Given the description of an element on the screen output the (x, y) to click on. 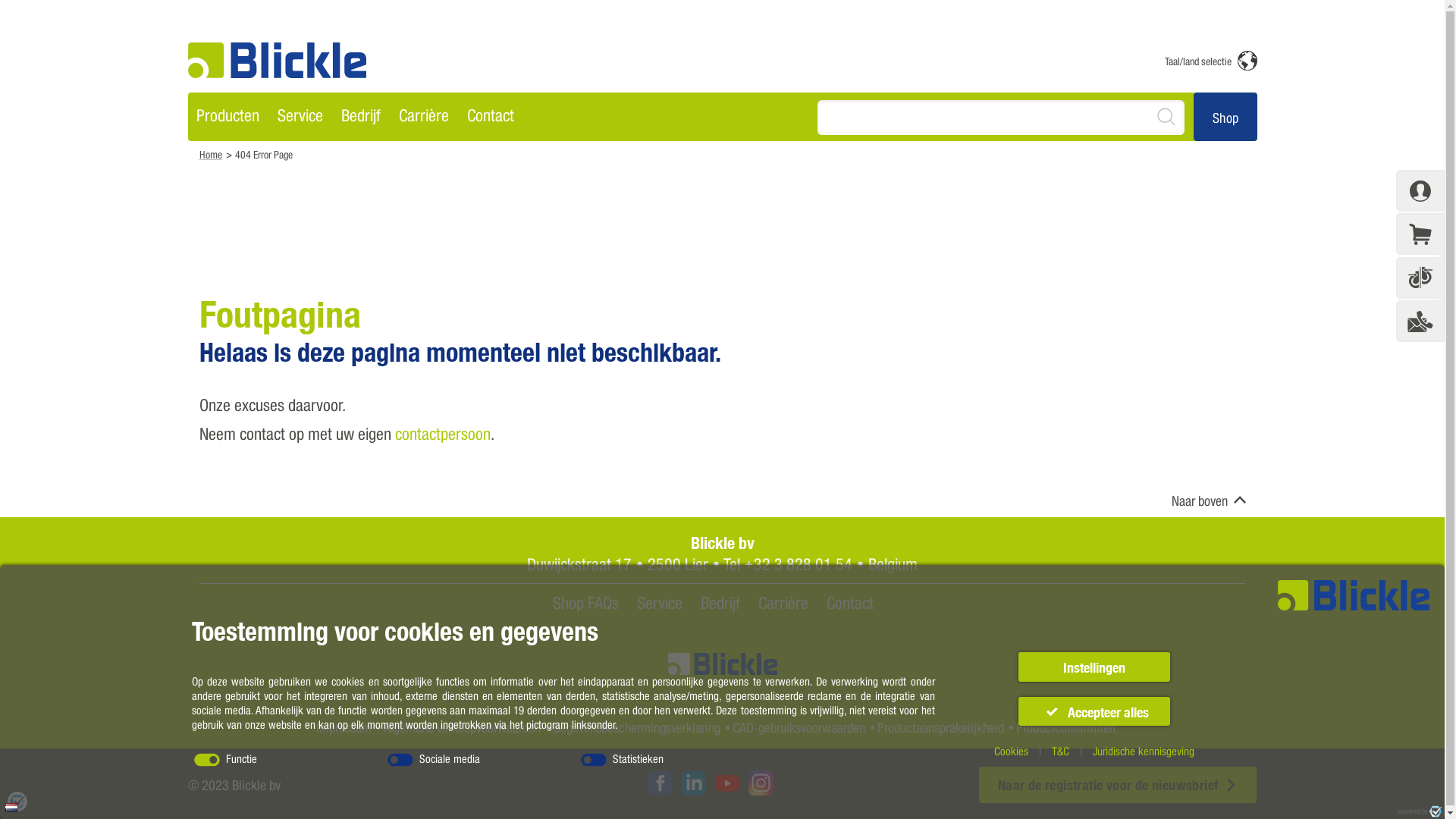
Shop Element type: text (1225, 115)
Gegevensbeschermingsverklaring Element type: text (636, 727)
contactpersoon Element type: text (441, 433)
Contact Element type: text (849, 602)
Producten Element type: text (228, 116)
LinkedIn Element type: hover (693, 784)
+32 3 828 01 54 Element type: text (797, 563)
404 Error Page Element type: text (263, 153)
Service Element type: text (659, 602)
Shop FAQs Element type: text (585, 602)
Naar de registratie voor de nieuwsbrief Element type: text (1117, 784)
CAD-gebruiksvoorwaarden Element type: text (798, 727)
Bedrijf Element type: text (360, 116)
Productconformiteit Element type: text (1066, 727)
Home Element type: text (209, 153)
Productaansprakelijkheid Element type: text (940, 727)
Contact Element type: text (490, 116)
Instagram Element type: hover (760, 784)
Algemene verkoopvoorwaarden Element type: text (461, 727)
Inloggen Element type: text (1420, 190)
Impressum Element type: text (343, 727)
Instagram Element type: hover (760, 782)
Naar boven Element type: text (1198, 500)
company-logo Element type: hover (277, 61)
YouTube Element type: hover (727, 784)
Service Element type: text (300, 116)
Blickle Logo Element type: hover (277, 60)
Facebook Element type: hover (660, 784)
Bedrijf Element type: text (720, 602)
